Given the description of an element on the screen output the (x, y) to click on. 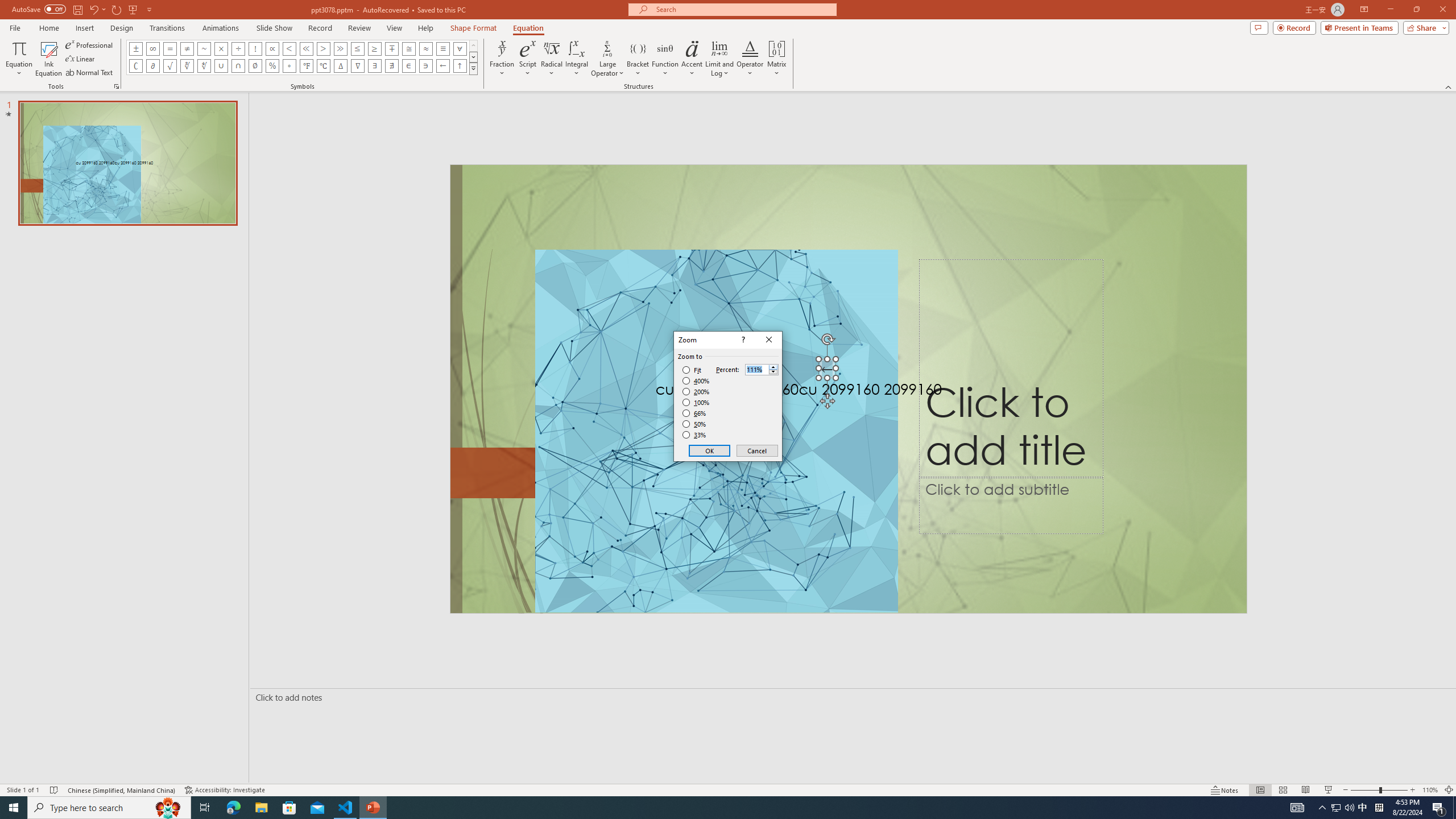
Equation Symbol Much Less Than (306, 48)
Function (664, 58)
Equation Symbol Plus Minus (136, 48)
Equation Symbol Element Of (408, 65)
Equation Symbol Complement (136, 65)
Normal Text (90, 72)
Equation Symbol Much Greater Than (340, 48)
Equation Symbol Greater Than or Equal To (374, 48)
Equation Symbol Multiplication Sign (221, 48)
